Given the description of an element on the screen output the (x, y) to click on. 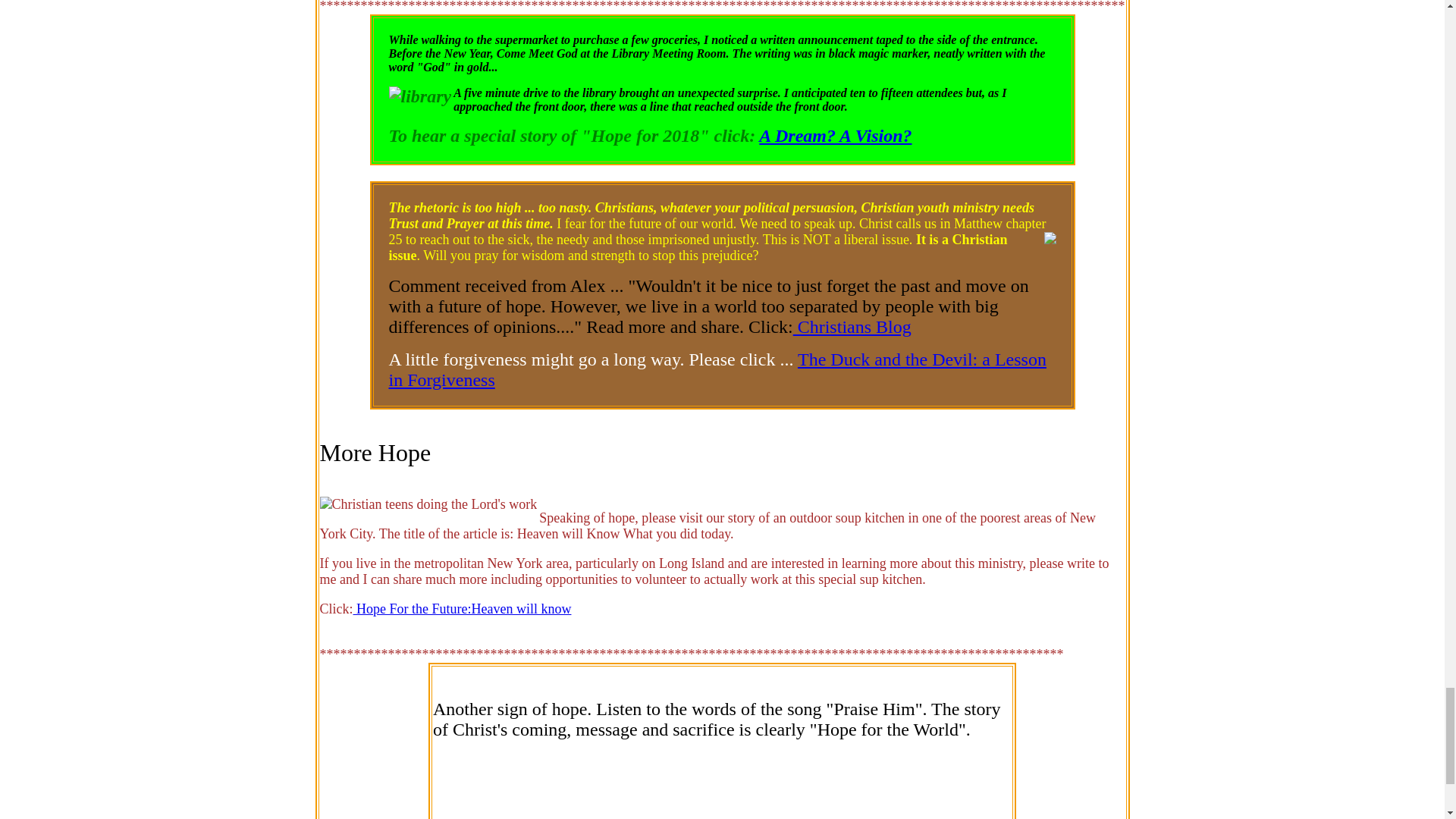
Hope For the Future:Heaven will know (462, 608)
The Duck and the Devil: a Lesson in Forgiveness (716, 369)
Christians Blog (852, 326)
A Dream? A Vision? (834, 135)
